Given the description of an element on the screen output the (x, y) to click on. 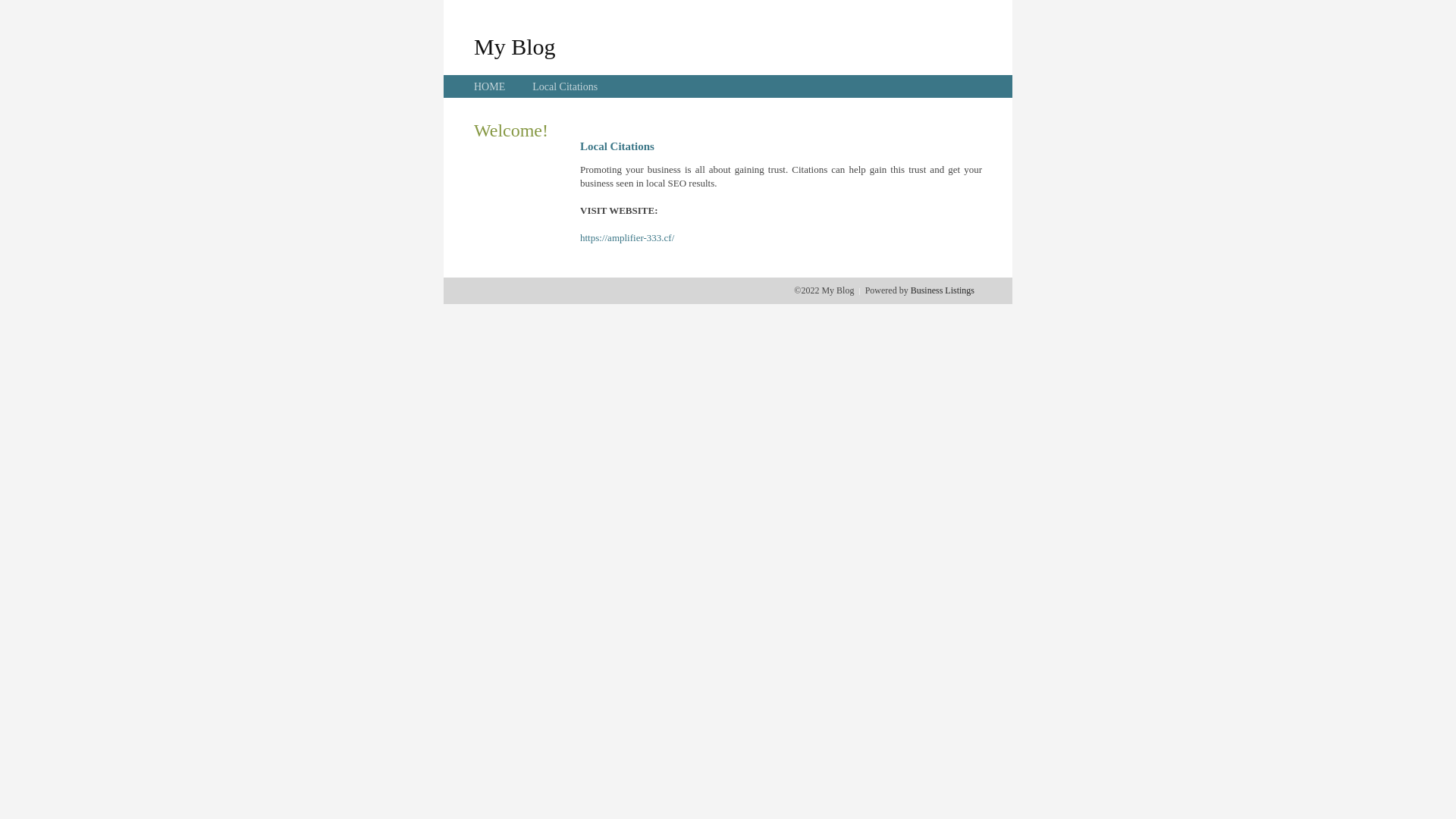
Local Citations Element type: text (564, 86)
My Blog Element type: text (514, 46)
HOME Element type: text (489, 86)
https://amplifier-333.cf/ Element type: text (627, 237)
Business Listings Element type: text (942, 290)
